Given the description of an element on the screen output the (x, y) to click on. 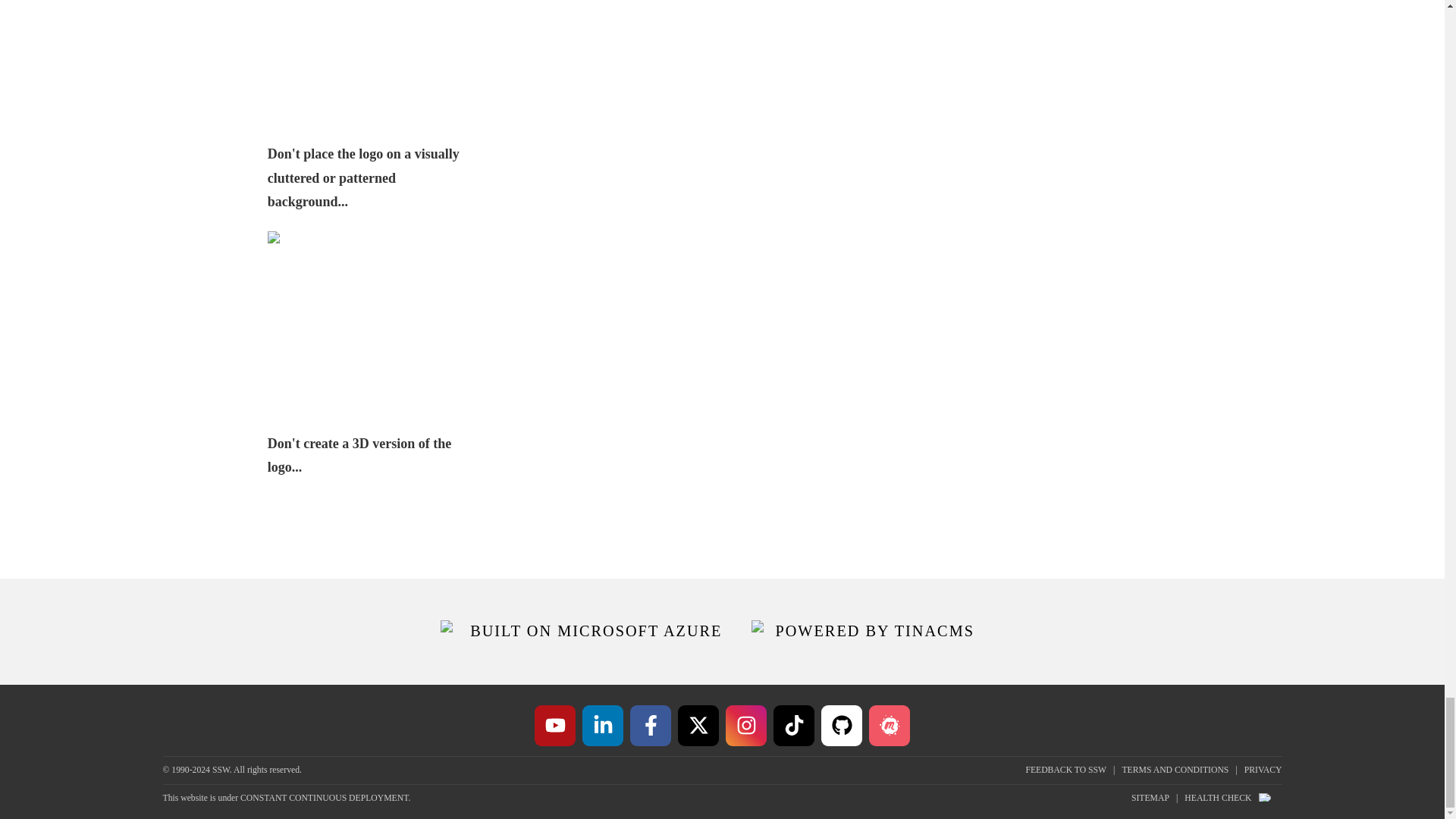
POWERED BY TINACMS (862, 631)
SSW on X (698, 725)
SSW on TikTok (793, 725)
SSW on YouTube (554, 725)
SSW on GitHub (841, 725)
BUILT ON MICROSOFT AZURE (581, 631)
SSW on Instagram (746, 725)
SSW on LinkedIn (602, 725)
SSW on Facebook (650, 725)
